Given the description of an element on the screen output the (x, y) to click on. 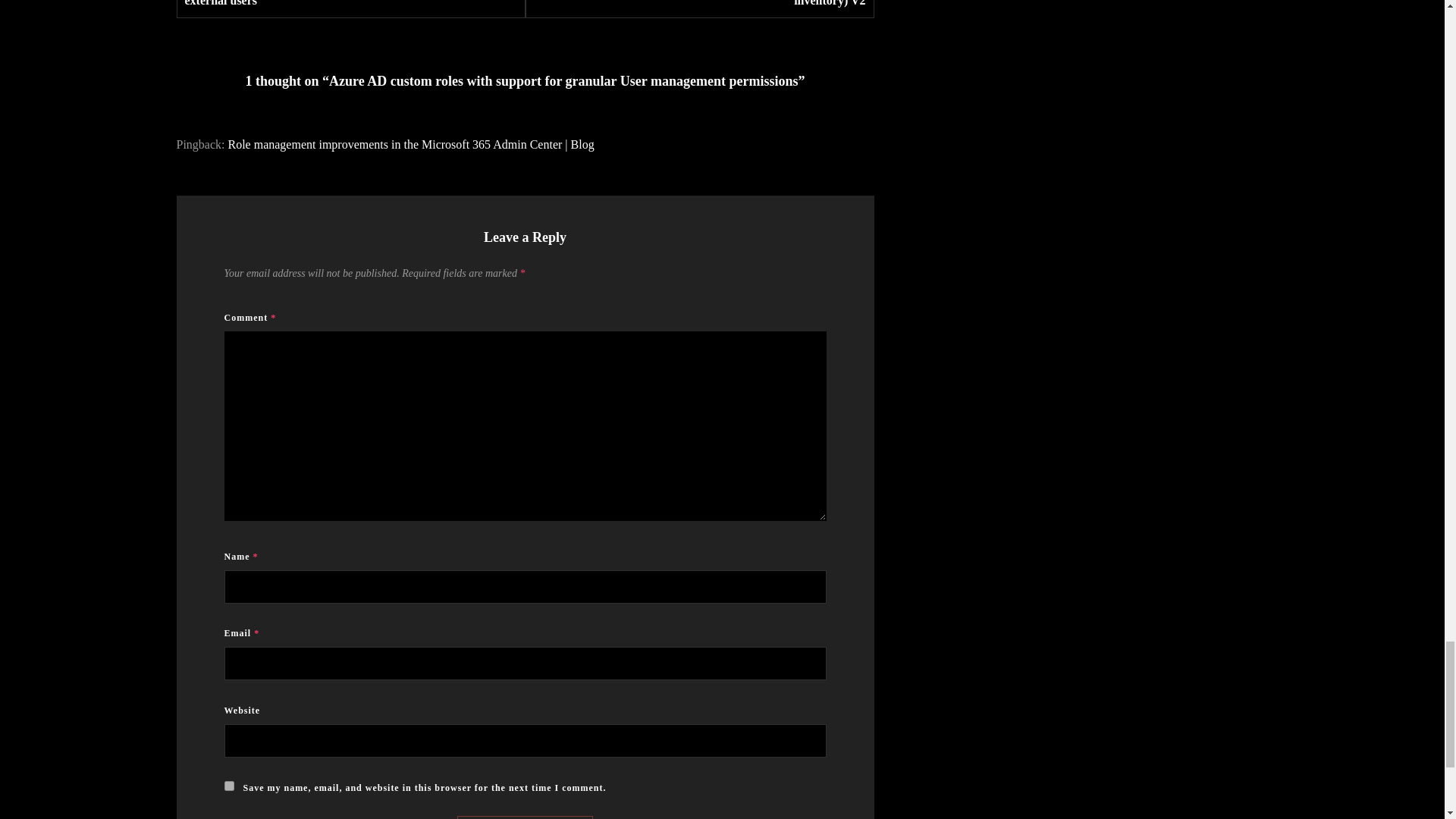
Post Comment (525, 817)
Post Comment (525, 817)
yes (229, 786)
